Given the description of an element on the screen output the (x, y) to click on. 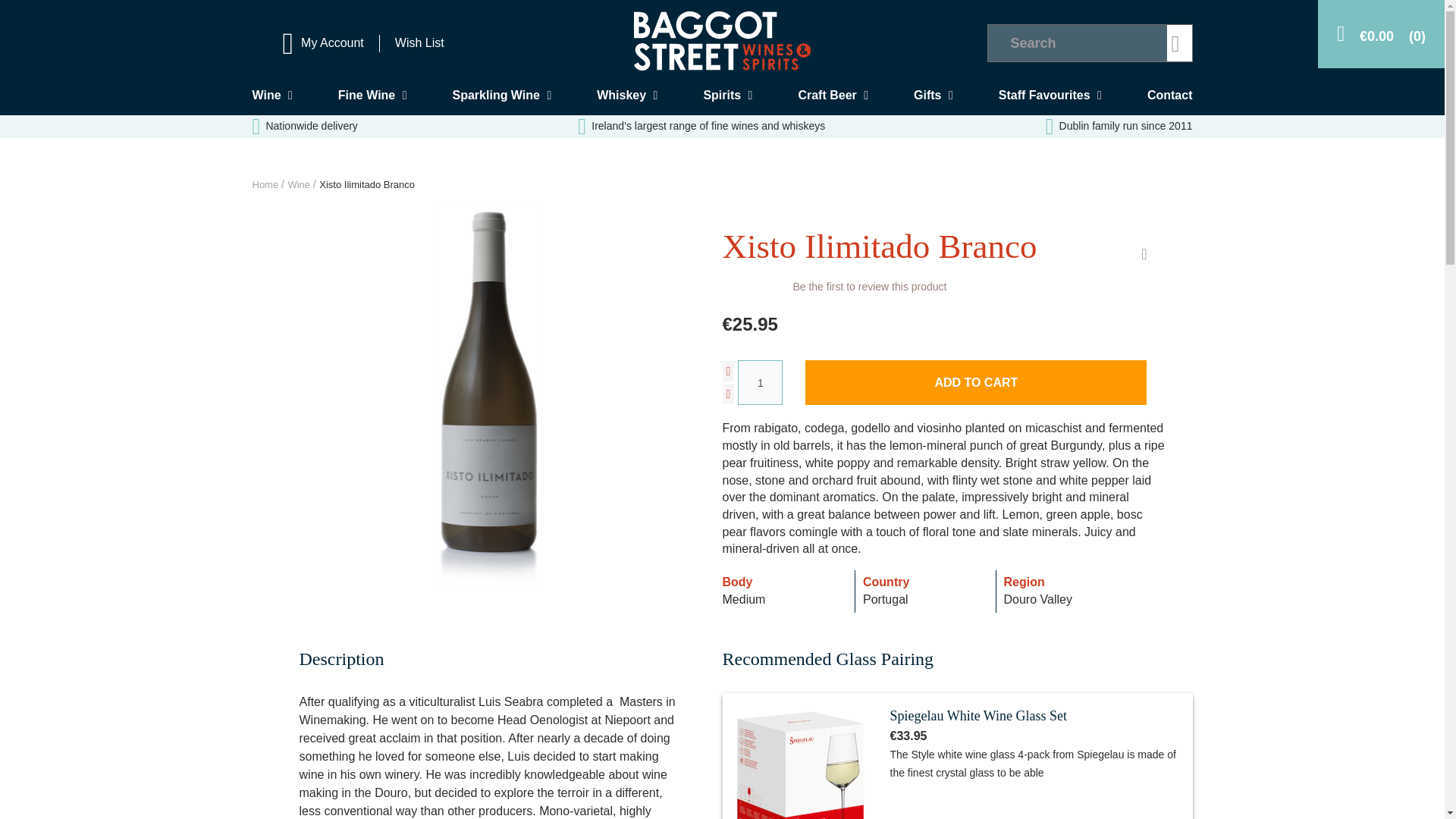
Wine (271, 94)
My Account (322, 42)
1 (760, 382)
Add to Cart (976, 382)
No Reviews (753, 287)
Qty (760, 382)
Go to Home Page (266, 184)
Wish List (419, 42)
Spiegelau White Wine Glass Set (978, 715)
